Given the description of an element on the screen output the (x, y) to click on. 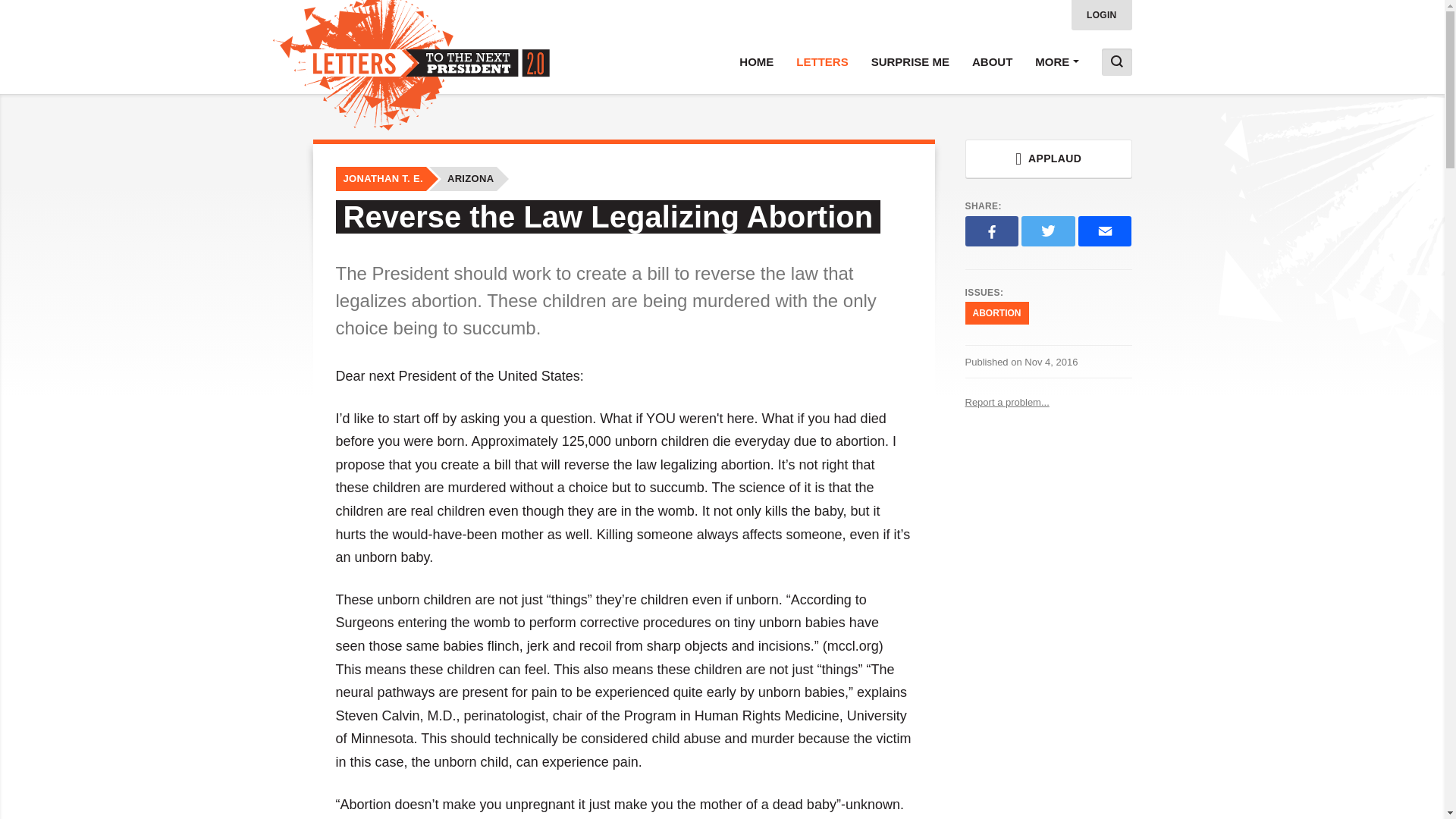
ABOUT (991, 62)
ABORTION (995, 313)
SURPRISE ME (910, 62)
HOME (756, 62)
Report a problem... (1047, 402)
LOGIN (1101, 15)
LETTERS (821, 62)
